Given the description of an element on the screen output the (x, y) to click on. 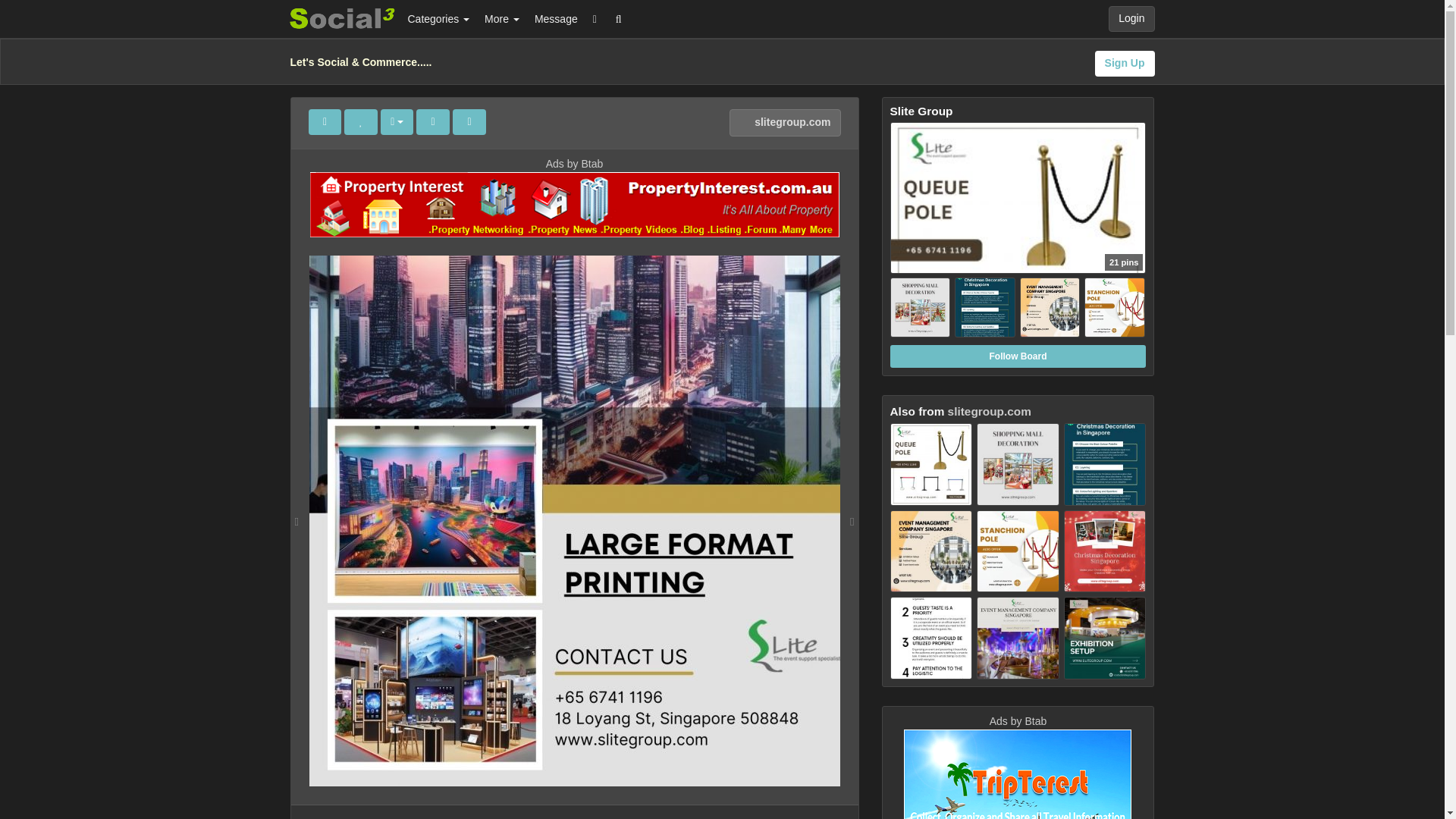
Like (360, 121)
Report (469, 121)
Slite Group (1018, 231)
Sign Up (1124, 63)
Message (556, 18)
More (502, 18)
Repin (323, 121)
Zoom (432, 121)
Login (1131, 18)
Categories (438, 18)
